Given the description of an element on the screen output the (x, y) to click on. 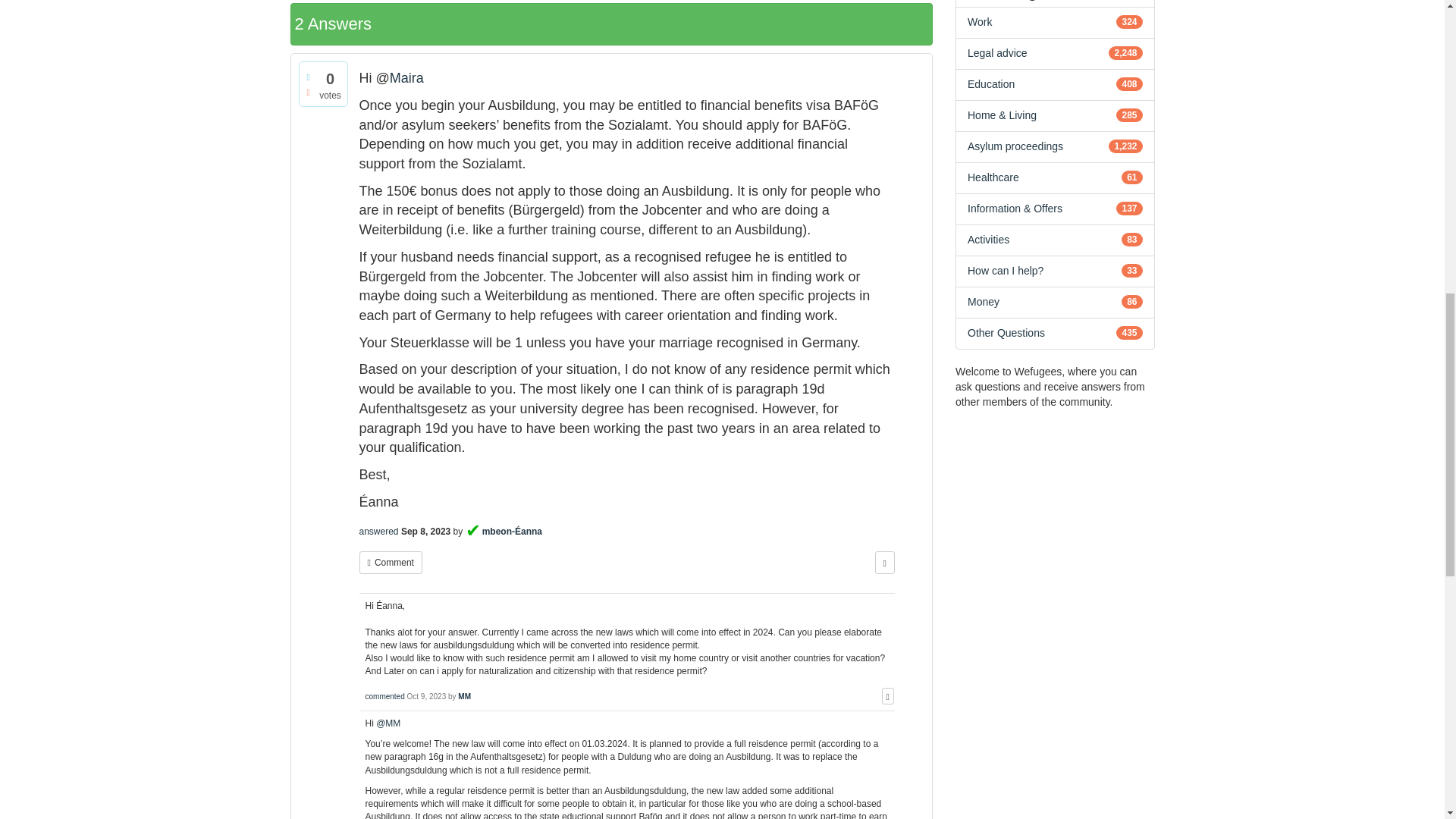
answered (378, 531)
Comment (390, 562)
Maira (406, 77)
